Given the description of an element on the screen output the (x, y) to click on. 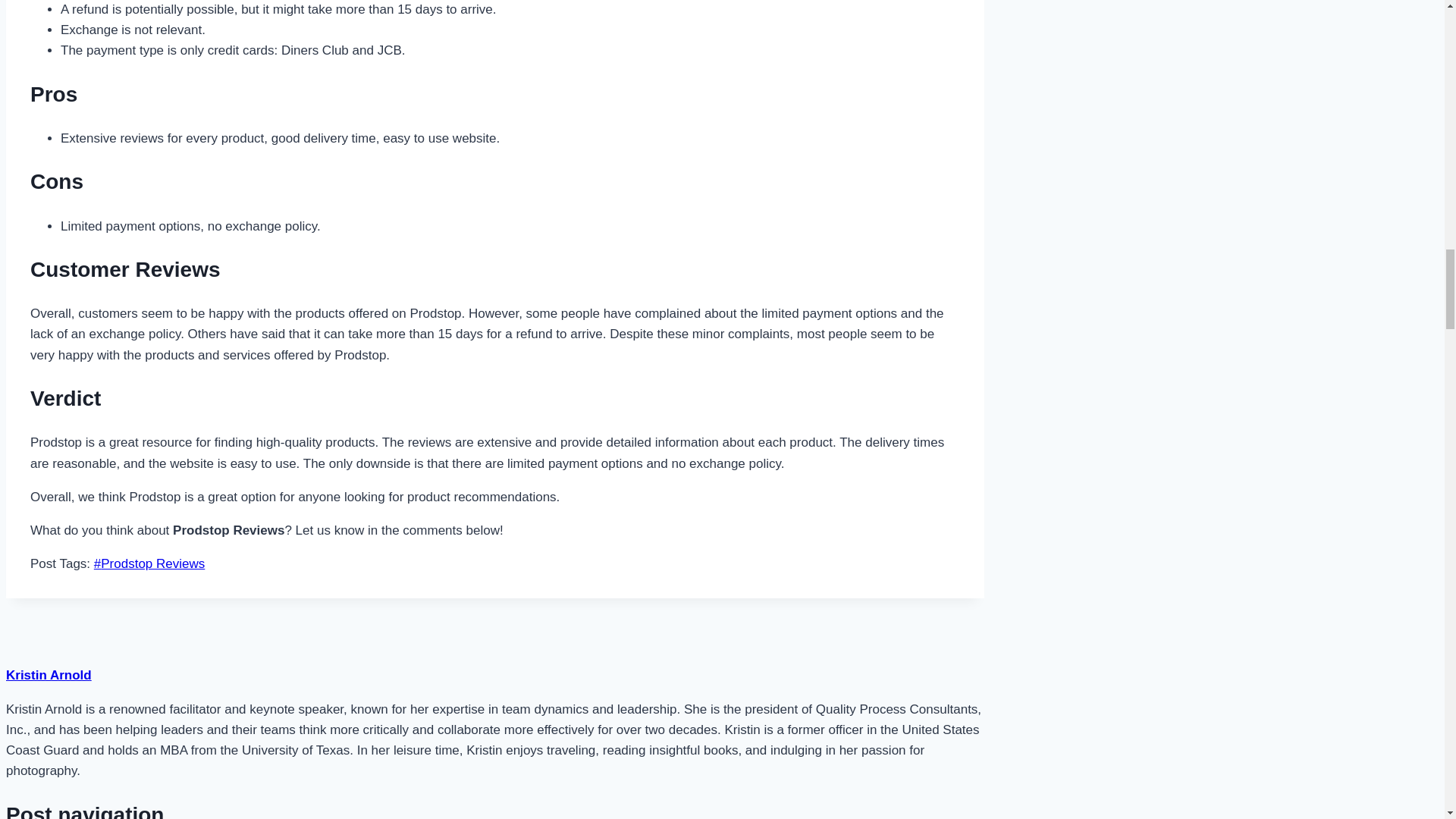
Kristin Arnold (48, 675)
Posts by Kristin Arnold (48, 675)
Prodstop Reviews (149, 563)
